Given the description of an element on the screen output the (x, y) to click on. 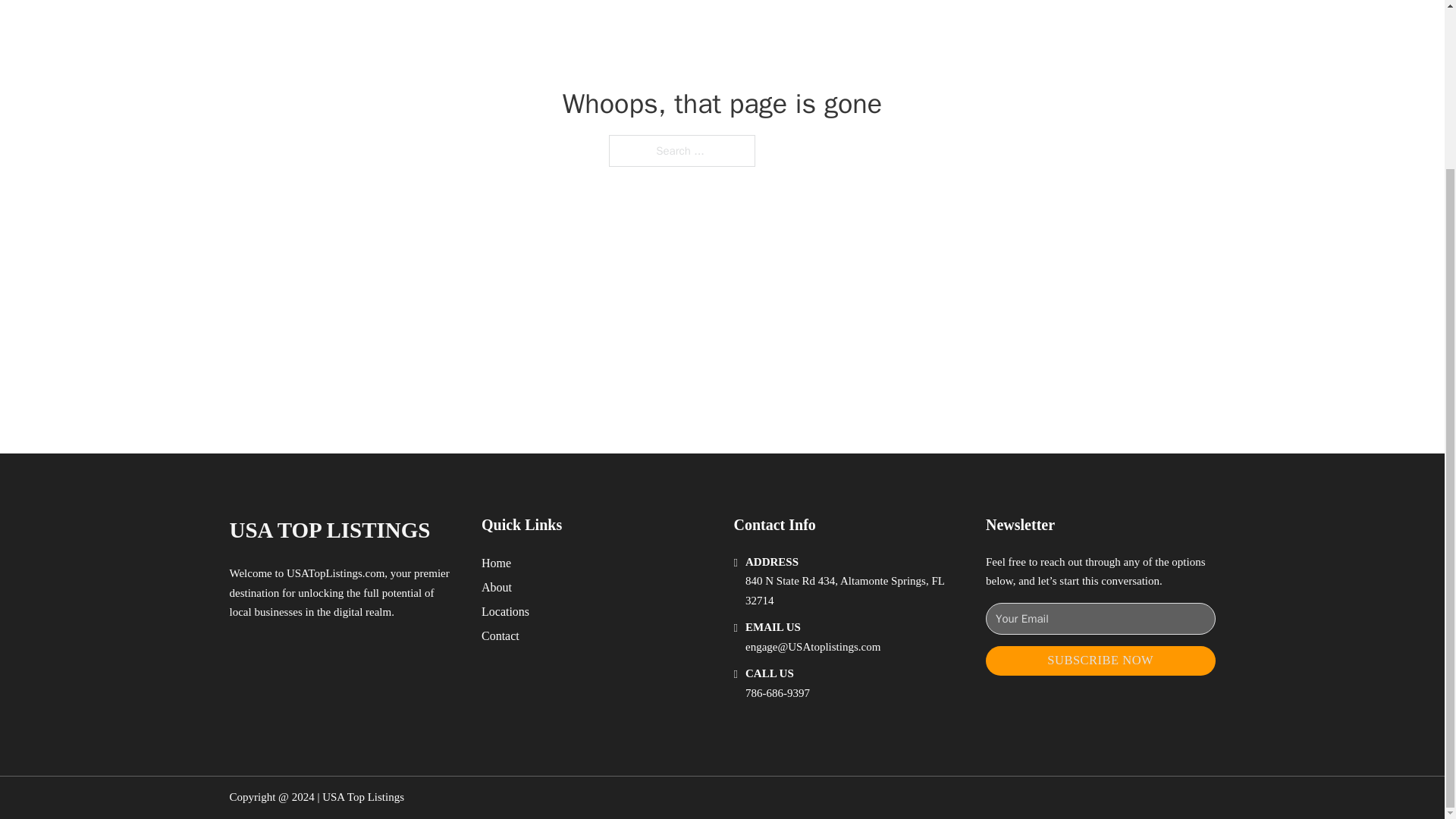
USATopListings.com (335, 573)
786-686-9397 (777, 693)
Locations (505, 611)
SUBSCRIBE NOW (1100, 660)
Home (496, 562)
Contact (500, 635)
USA TOP LISTINGS (328, 529)
About (496, 587)
